Given the description of an element on the screen output the (x, y) to click on. 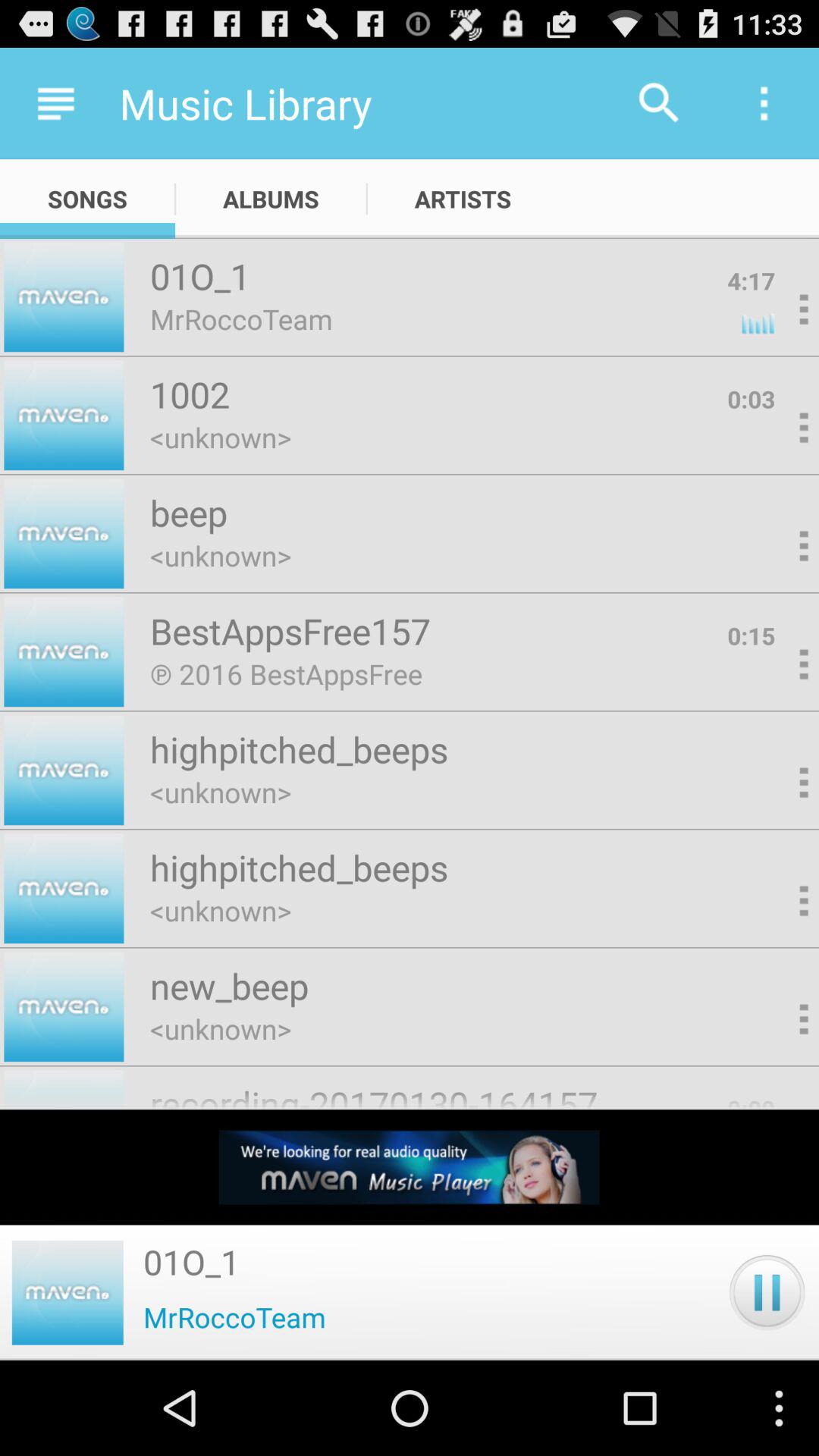
click on maven logo which is beside the highpitchedbeeps (64, 770)
select the fifth menu icon (779, 665)
